Given the description of an element on the screen output the (x, y) to click on. 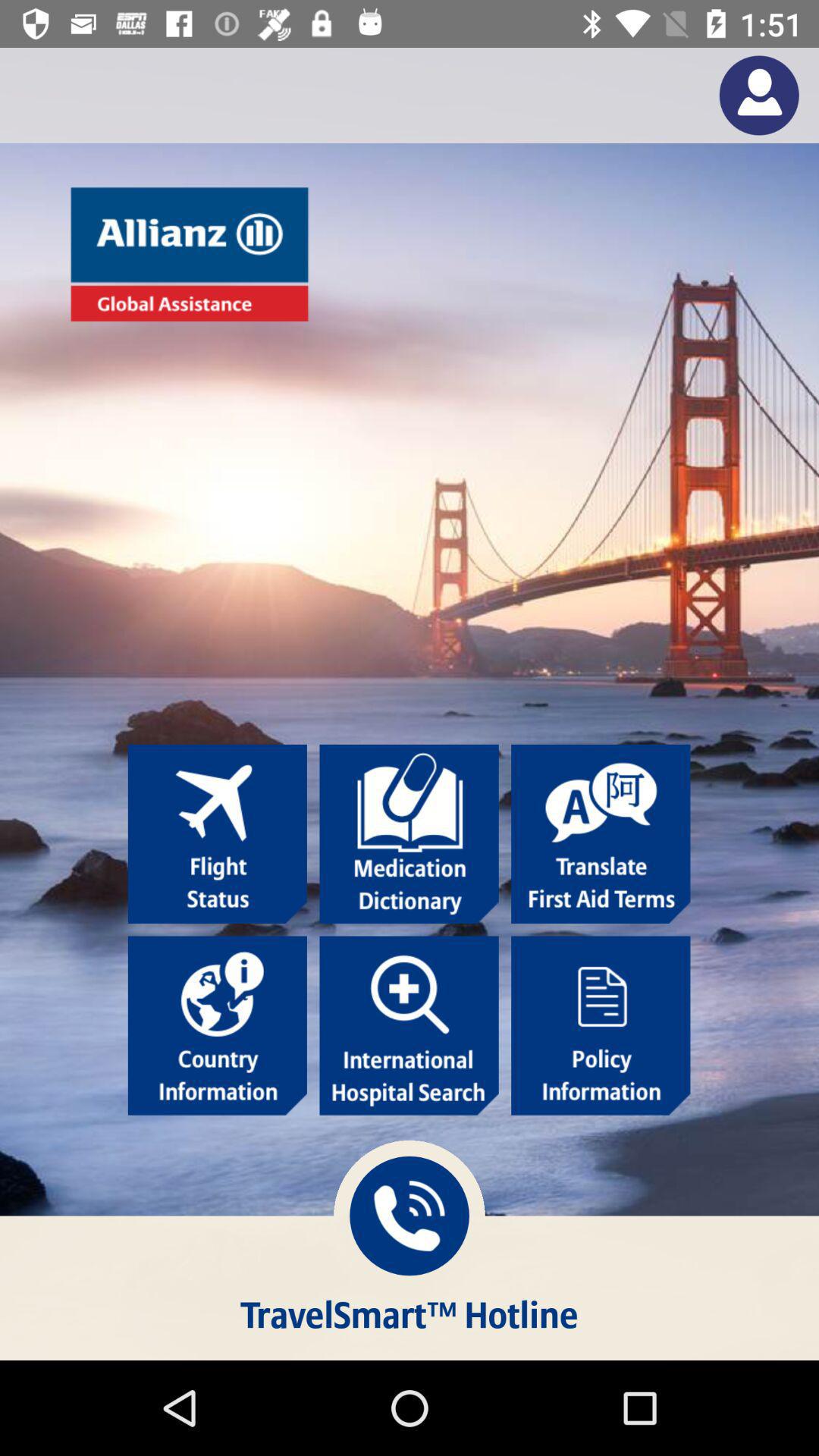
view profile (759, 95)
